Given the description of an element on the screen output the (x, y) to click on. 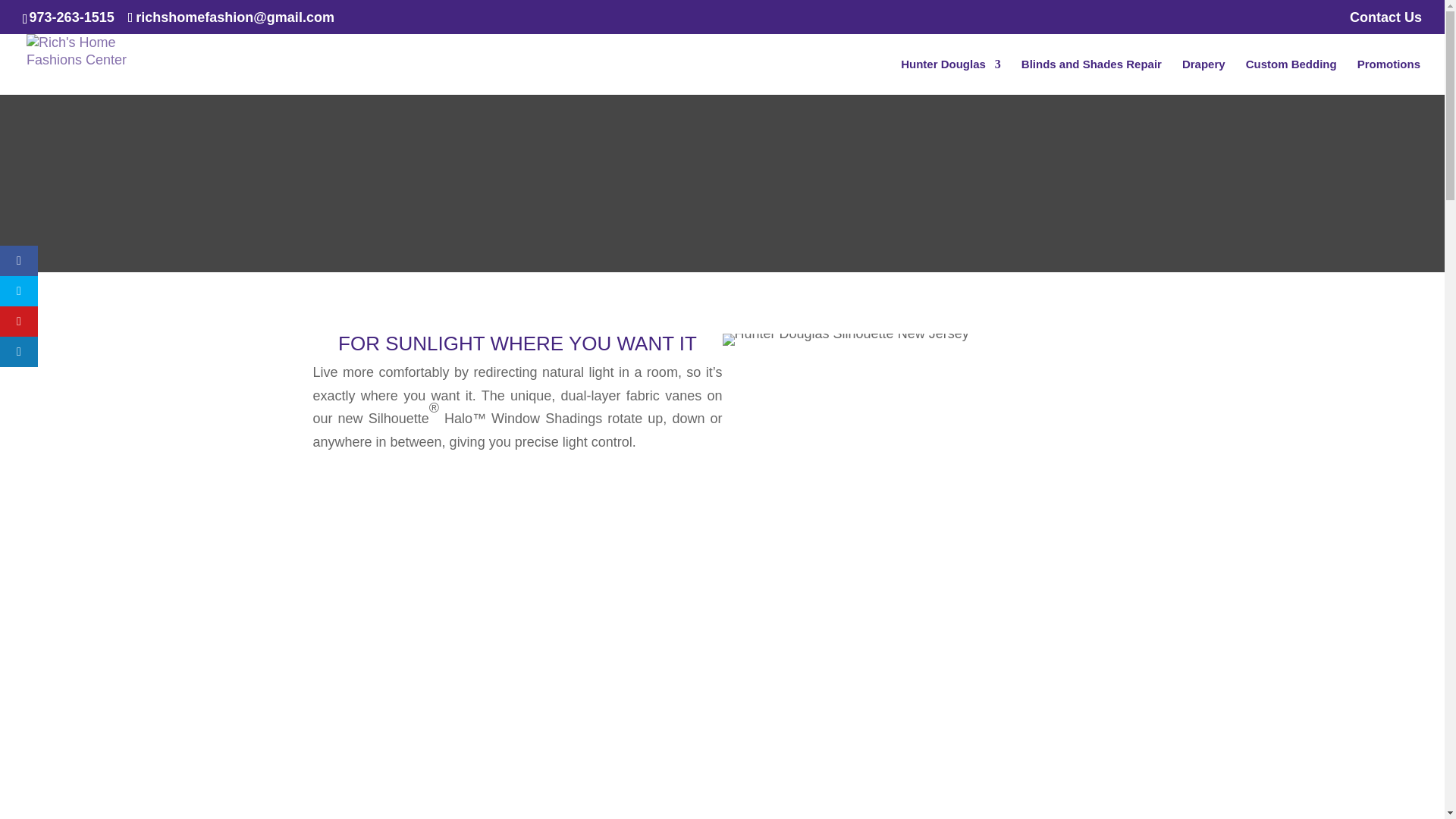
Drapery (1203, 76)
YouTube video player (524, 735)
MORE ABOUT SILHOUETTE (516, 509)
Contact Us (1385, 22)
Hunter Douglas (951, 76)
Blinds and Shades Repair (1091, 76)
Promotions (1388, 76)
Custom Bedding (1291, 76)
